Given the description of an element on the screen output the (x, y) to click on. 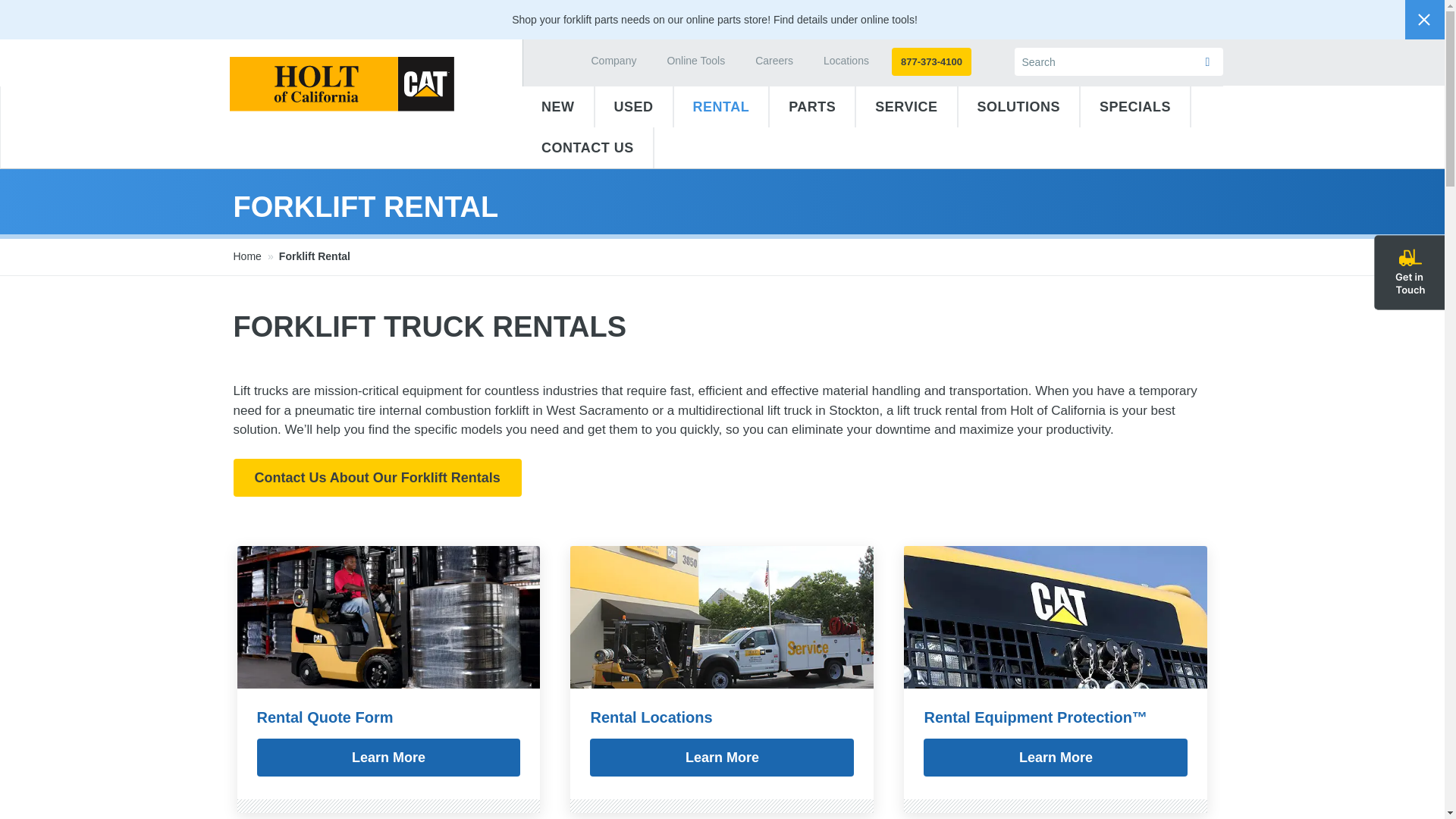
Careers (773, 62)
Online Tools (694, 62)
NEW (558, 106)
877-373-4100 (931, 61)
Company (614, 62)
Locations (845, 62)
